Given the description of an element on the screen output the (x, y) to click on. 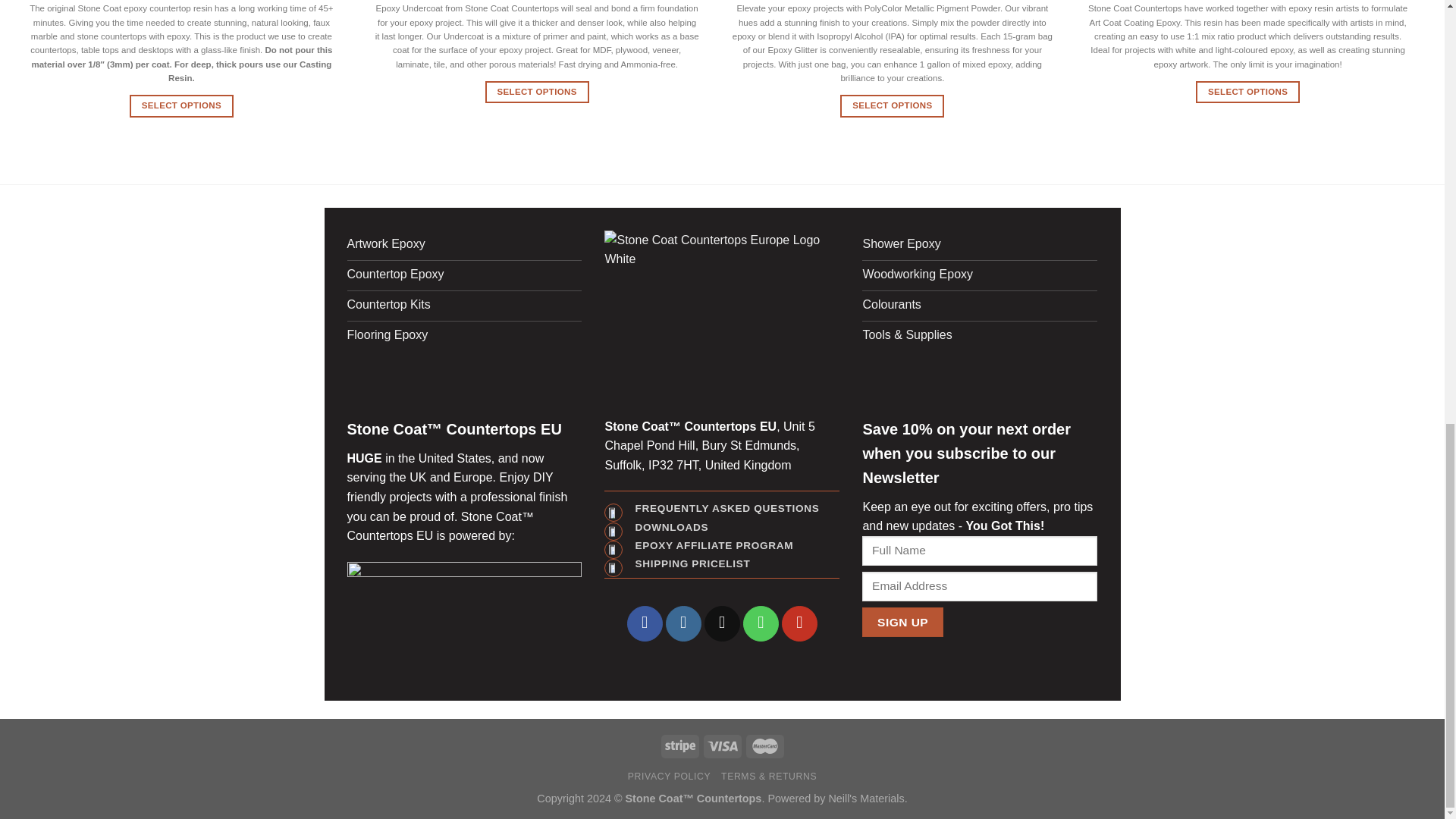
Follow on Facebook (644, 623)
Send us an email (721, 623)
SELECT OPTIONS (180, 106)
SELECT OPTIONS (891, 106)
Call us (760, 623)
Follow on Instagram (683, 623)
Sign up (901, 622)
SELECT OPTIONS (536, 92)
Follow on YouTube (798, 623)
